Given the description of an element on the screen output the (x, y) to click on. 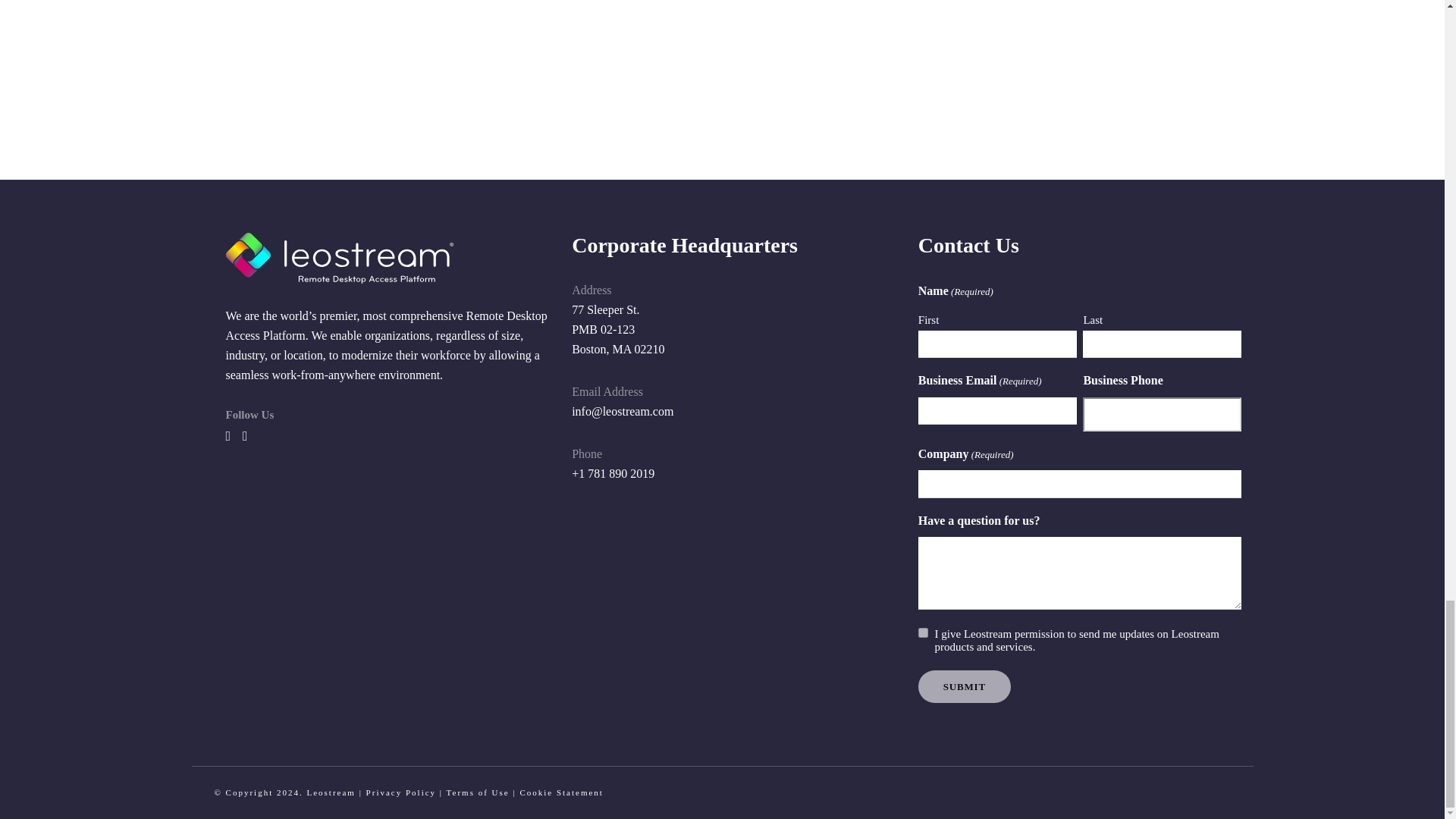
Submit (964, 686)
